Given the description of an element on the screen output the (x, y) to click on. 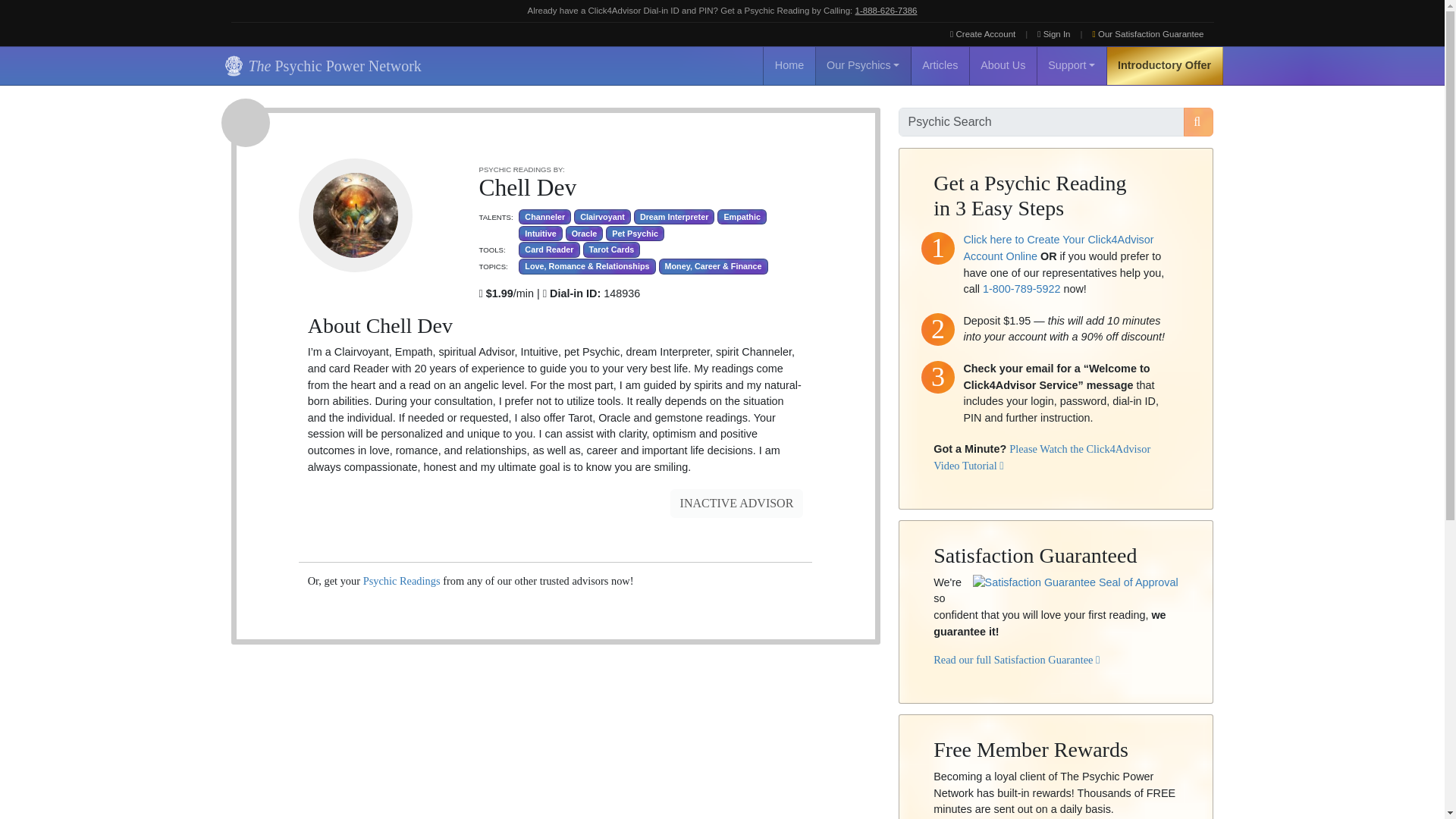
Pet Psychic (634, 233)
Tarot Cards (611, 249)
About Us (1002, 65)
Home (788, 65)
Channeler (544, 216)
Intuitive (540, 233)
Support (1071, 65)
The Psychic Power Network (320, 65)
Create Account (982, 33)
Card Reader (548, 249)
Our Satisfaction Guarantee (1148, 33)
Introductory Offer (1164, 65)
Oracle (585, 233)
Empathic (742, 216)
Our Psychics (863, 65)
